Given the description of an element on the screen output the (x, y) to click on. 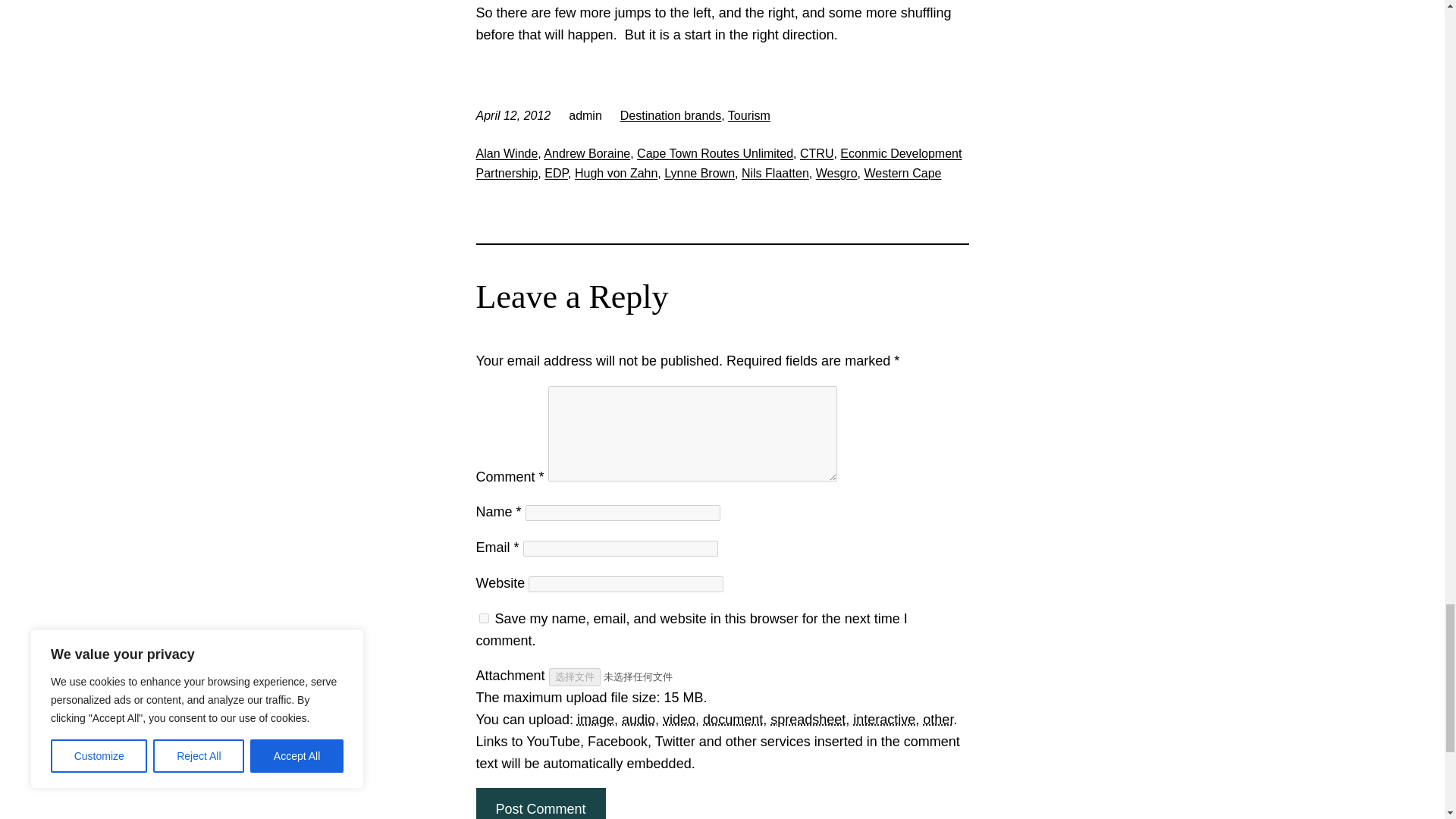
mpe, 3gp2, mid, midi, pot, xla, xlt, xlw, webm (938, 719)
Lynne Brown (699, 173)
Destination brands (670, 115)
Nils Flaatten (775, 173)
Wesgro (836, 173)
pdf, doc, docx, docm, odt (732, 719)
Western Cape (901, 173)
mp3, m4a, m4b, ogg, oga, flac, wav (638, 719)
xls, xlsx, xlsm, xlsb (807, 719)
Andrew Boraine (586, 153)
Cape Town Routes Unlimited (715, 153)
CTRU (815, 153)
Post Comment (540, 803)
yes (484, 618)
EDP (555, 173)
